Given the description of an element on the screen output the (x, y) to click on. 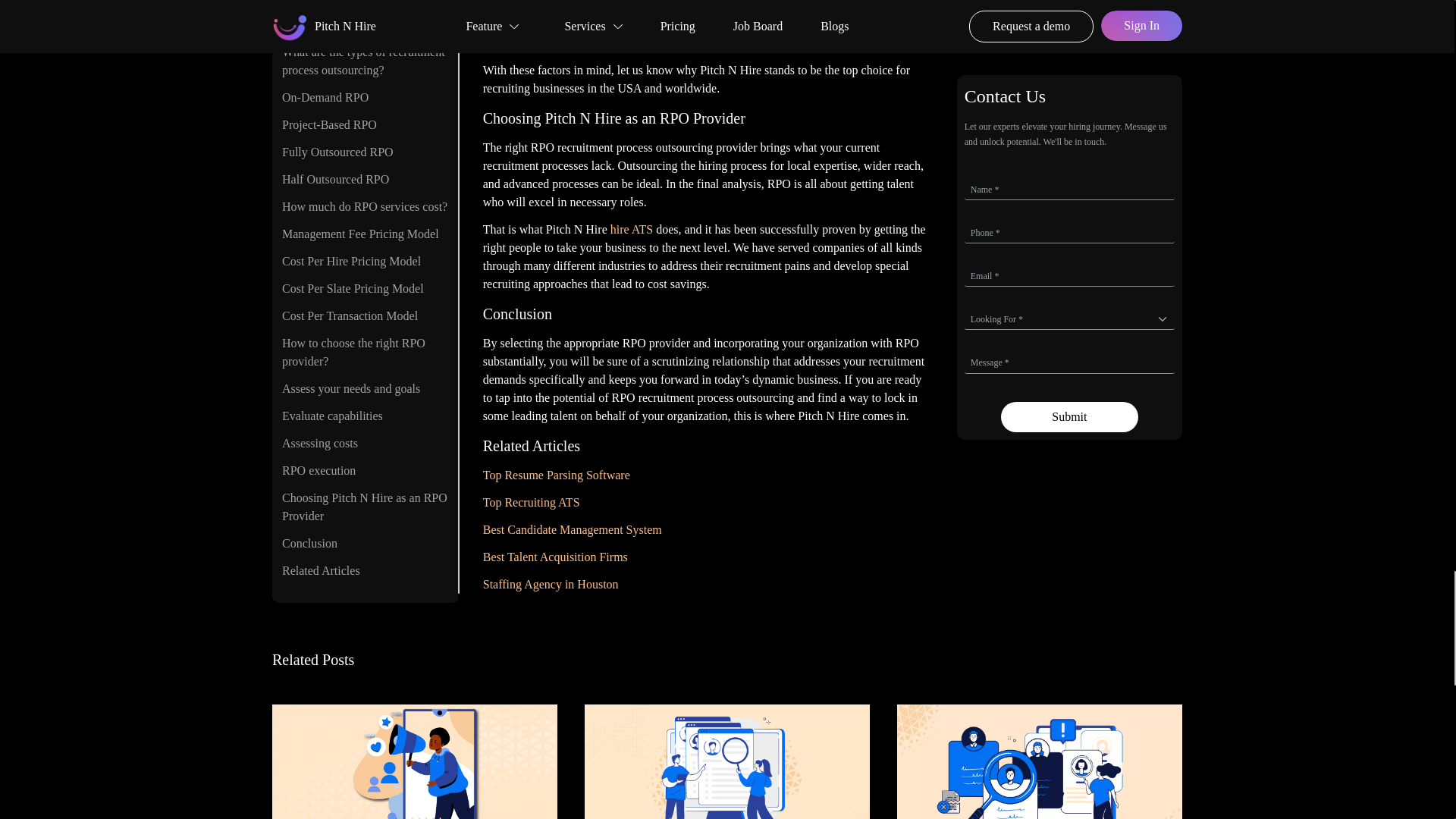
Top Resume Parsing Software (556, 474)
Top Recruitment Influencers You Need to Follow in 2024 (414, 752)
Top Recruiting ATS (531, 502)
Staffing Agency in Houston (550, 584)
hire ATS (631, 228)
Greenhouse Applicant Tracking vs Pitch N Hire ATS - 2024 (727, 752)
7 Common Hiring Mistakes and How to Avoid Them in 2024 (1039, 752)
Best Candidate Management System (572, 529)
Best Talent Acquisition Firms (555, 556)
